Given the description of an element on the screen output the (x, y) to click on. 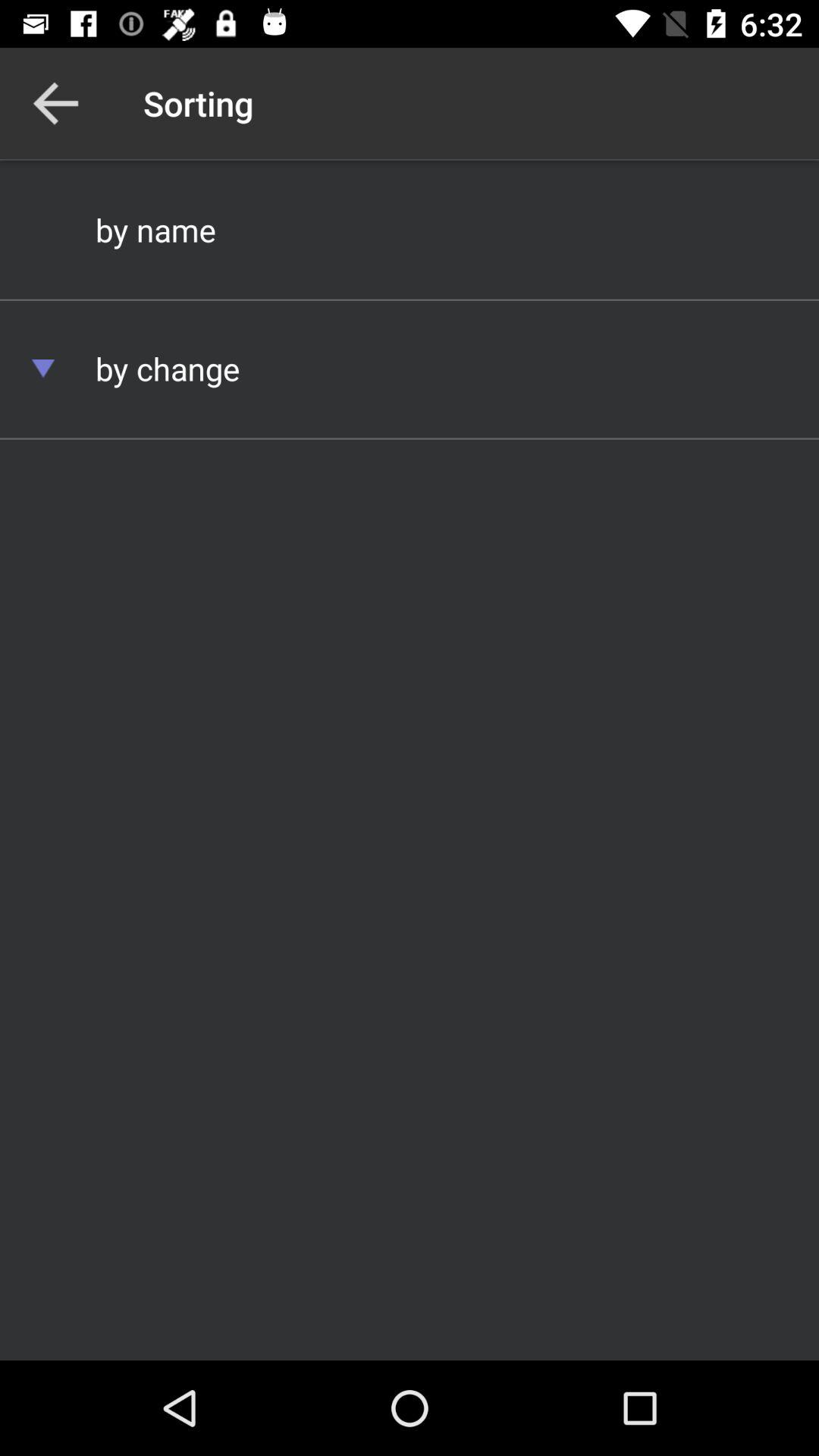
swipe until by name icon (409, 229)
